Given the description of an element on the screen output the (x, y) to click on. 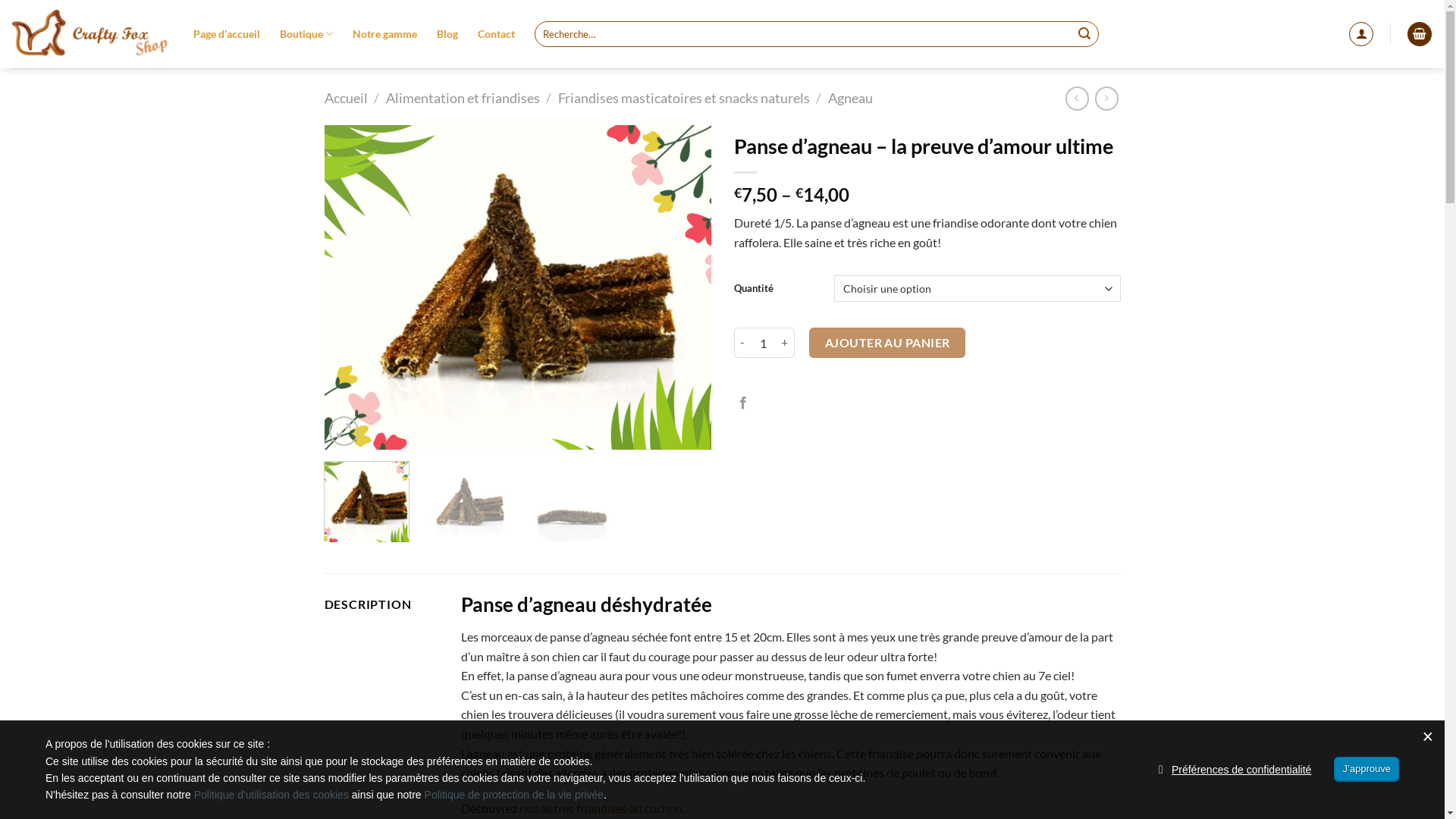
Accueil Element type: text (345, 97)
nos autres friandises au cochon.  Element type: text (602, 807)
Craftyfox Element type: hover (90, 34)
Alimentation et friandises Element type: text (462, 97)
Politique d'utilisation des cookies Element type: text (271, 795)
Friandises masticatoires et snacks naturels Element type: text (683, 97)
Qty Element type: hover (762, 342)
Notre gamme Element type: text (384, 33)
Panier Element type: hover (1419, 34)
Blog Element type: text (447, 33)
Agneau Element type: text (850, 97)
panse d'agneau Element type: hover (517, 287)
Contact Element type: text (495, 33)
Boutique Element type: text (305, 33)
AJOUTER AU PANIER Element type: text (887, 342)
Recherche Element type: text (1084, 34)
